Given the description of an element on the screen output the (x, y) to click on. 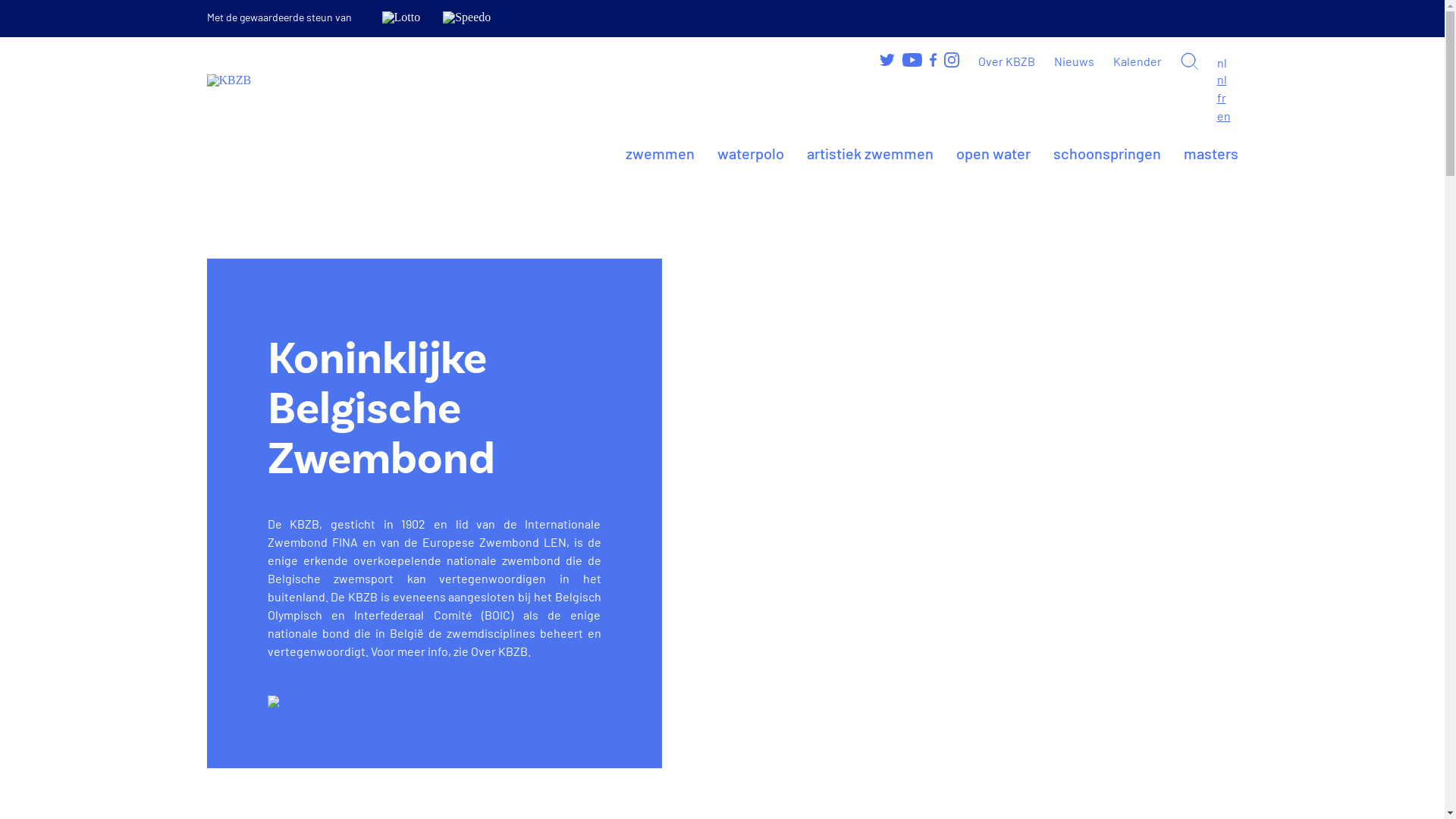
Zoeken Element type: text (1188, 60)
Volg ons op Instagram Element type: text (950, 59)
en Element type: text (1223, 115)
waterpolo Element type: text (750, 153)
schoonspringen Element type: text (1106, 153)
nl Element type: text (1221, 79)
Volg ons op Facebook Element type: text (932, 59)
masters Element type: text (1210, 153)
Over KBZB Element type: text (1006, 60)
zwemmen Element type: text (658, 153)
artistiek zwemmen Element type: text (869, 153)
Nieuws Element type: text (1074, 60)
fr Element type: text (1220, 97)
Bekijk onze YouTube video's Element type: text (912, 59)
Scroll naar content Element type: hover (272, 700)
Volg ons op Twitter Element type: text (886, 58)
Kalender Element type: text (1137, 60)
nl Element type: text (1226, 62)
open water Element type: text (992, 153)
